Given the description of an element on the screen output the (x, y) to click on. 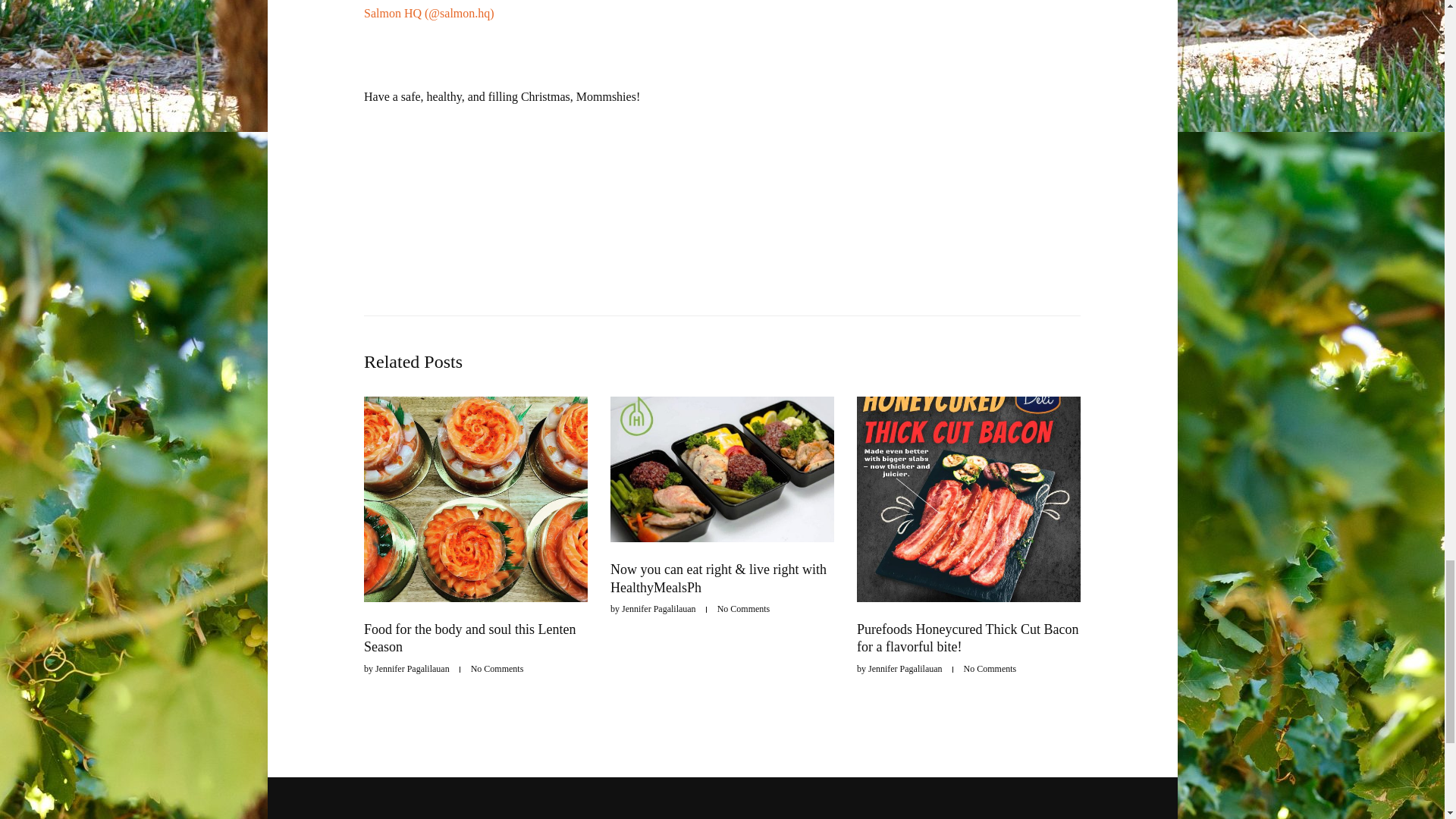
Purefoods Honeycured Thick Cut Bacon for a flavorful bite! (967, 637)
Food for the body and soul this Lenten Season (469, 637)
